Given the description of an element on the screen output the (x, y) to click on. 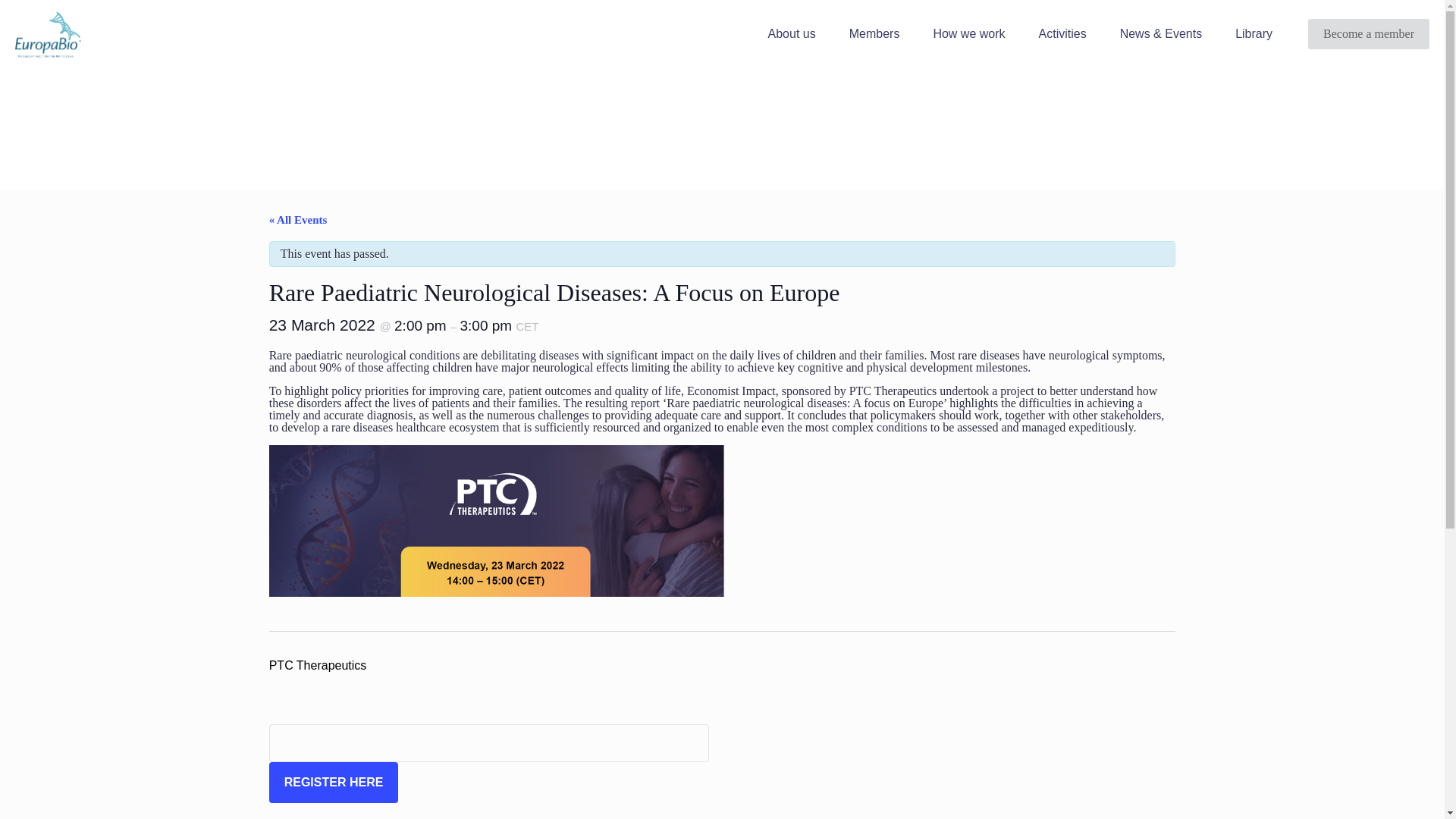
How we work (968, 34)
About us (791, 34)
Library (1253, 34)
REGISTER HERE (333, 782)
Europabio (47, 33)
Members (874, 34)
Become a member (1368, 33)
Activities (1062, 34)
